Given the description of an element on the screen output the (x, y) to click on. 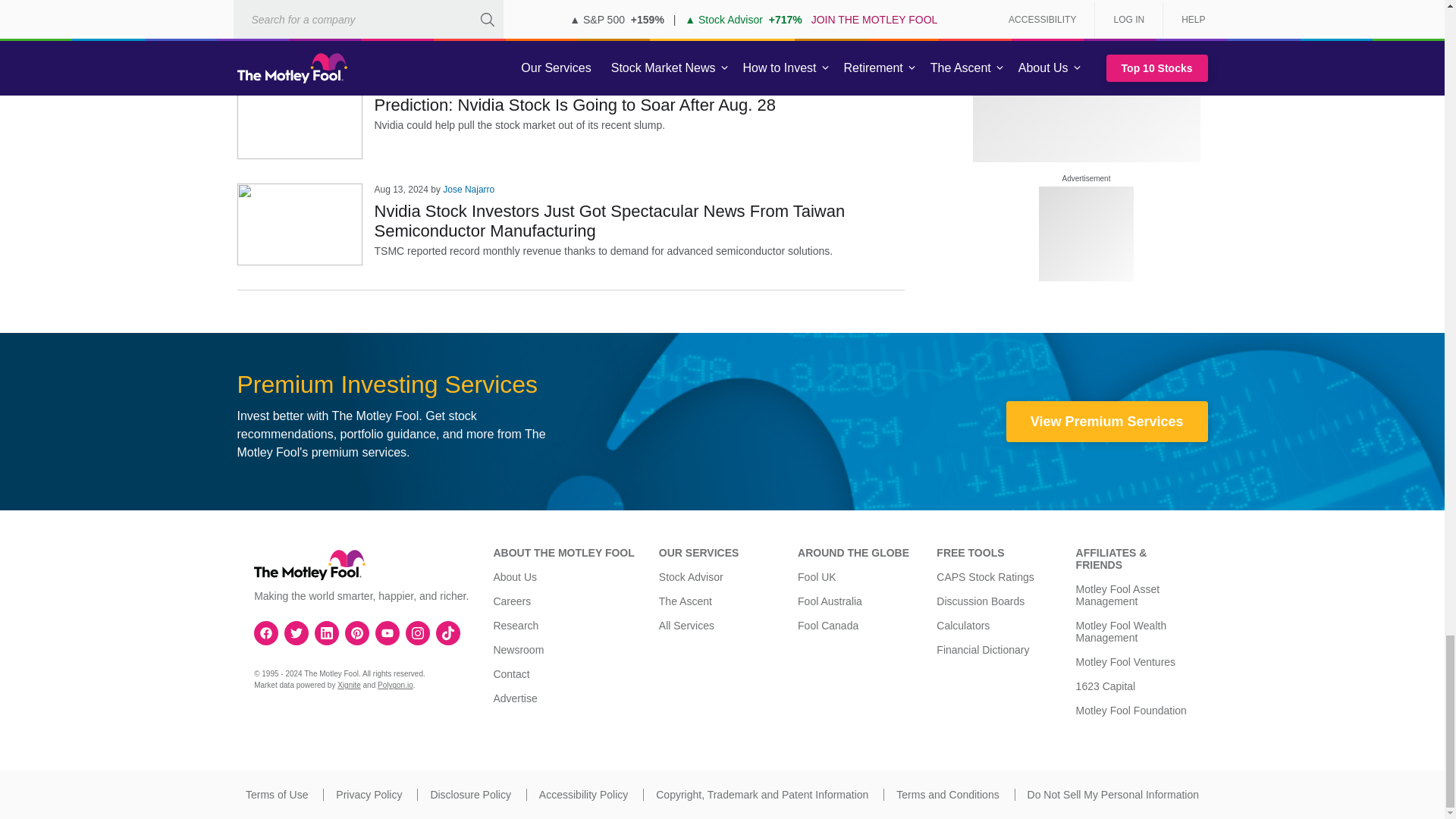
Do Not Sell My Personal Information. (1112, 794)
Terms and Conditions (947, 794)
Terms of Use (276, 794)
Accessibility Policy (582, 794)
Copyright, Trademark and Patent Information (761, 794)
Privacy Policy (368, 794)
Disclosure Policy (470, 794)
